Given the description of an element on the screen output the (x, y) to click on. 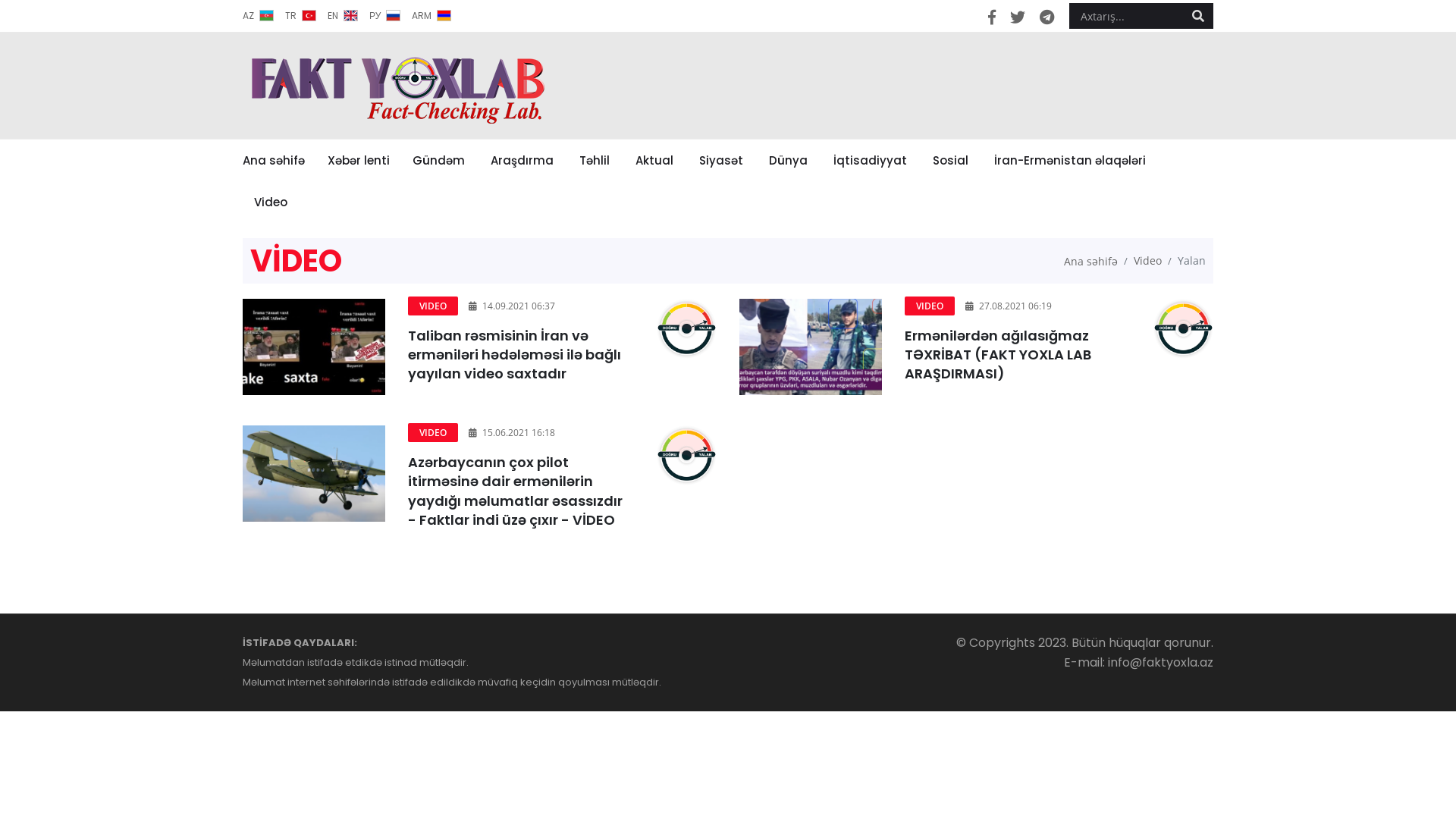
VIDEO Element type: text (432, 432)
AZ Element type: text (257, 15)
Sosial Element type: text (950, 160)
VIDEO Element type: text (432, 305)
VIDEO Element type: text (929, 305)
EN Element type: text (342, 15)
Video Element type: text (1147, 260)
Video Element type: text (270, 201)
Aktual Element type: text (654, 160)
TR Element type: text (300, 15)
ARM Element type: text (431, 15)
